Given the description of an element on the screen output the (x, y) to click on. 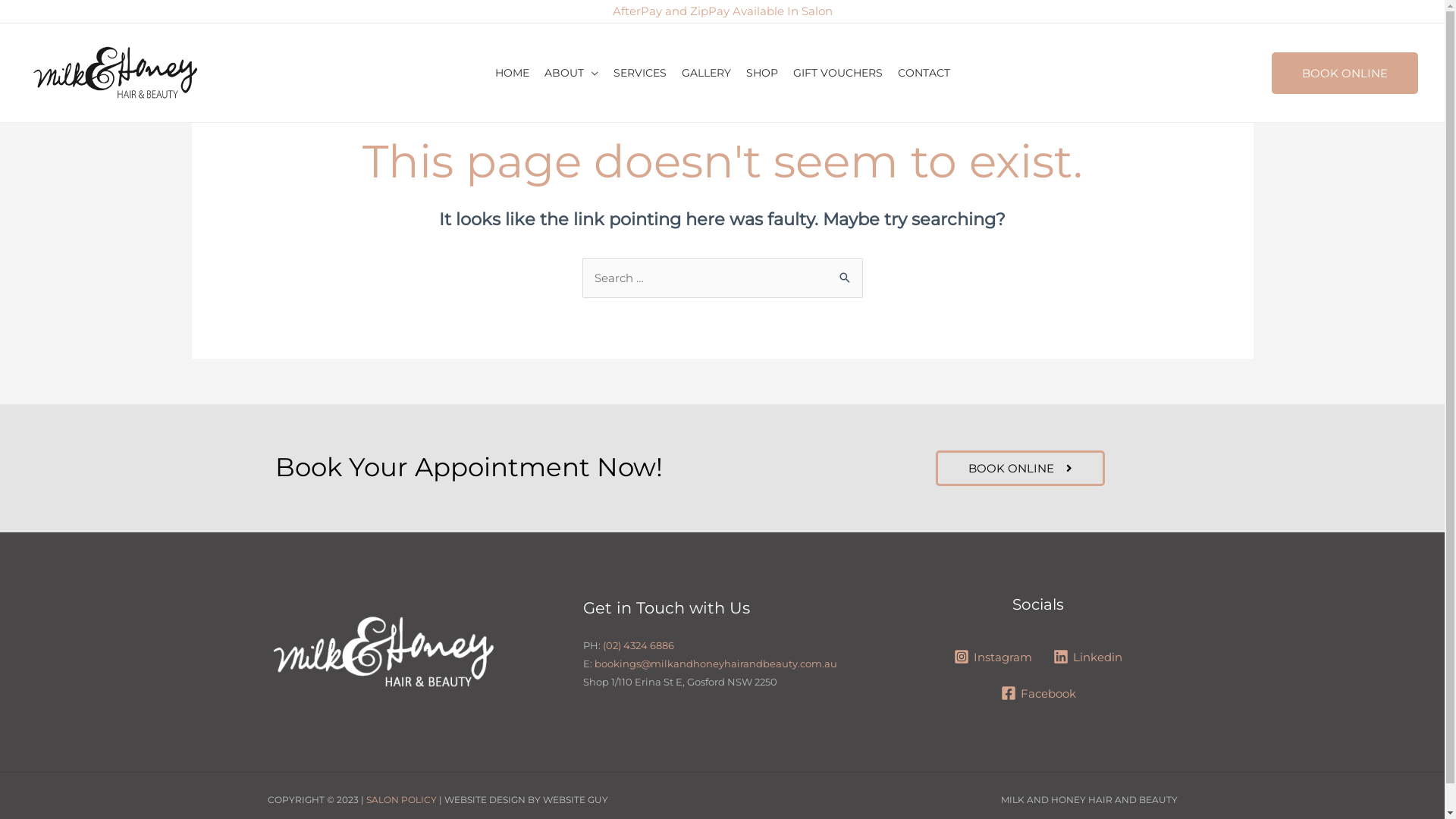
GIFT VOUCHERS Element type: text (837, 72)
SHOP Element type: text (761, 72)
Facebook Element type: text (1038, 692)
BOOK ONLINE Element type: text (1344, 72)
Instagram Element type: text (992, 656)
SALON POLICY Element type: text (400, 799)
HOME Element type: text (511, 72)
BOOK ONLINE Element type: text (1019, 468)
CONTACT Element type: text (923, 72)
ABOUT Element type: text (570, 72)
GALLERY Element type: text (705, 72)
(02) 4324 6886 Element type: text (638, 645)
SERVICES Element type: text (639, 72)
bookings@milkandhoneyhairandbeauty.com.au Element type: text (715, 663)
Linkedin Element type: text (1087, 656)
Search Element type: text (845, 272)
